Given the description of an element on the screen output the (x, y) to click on. 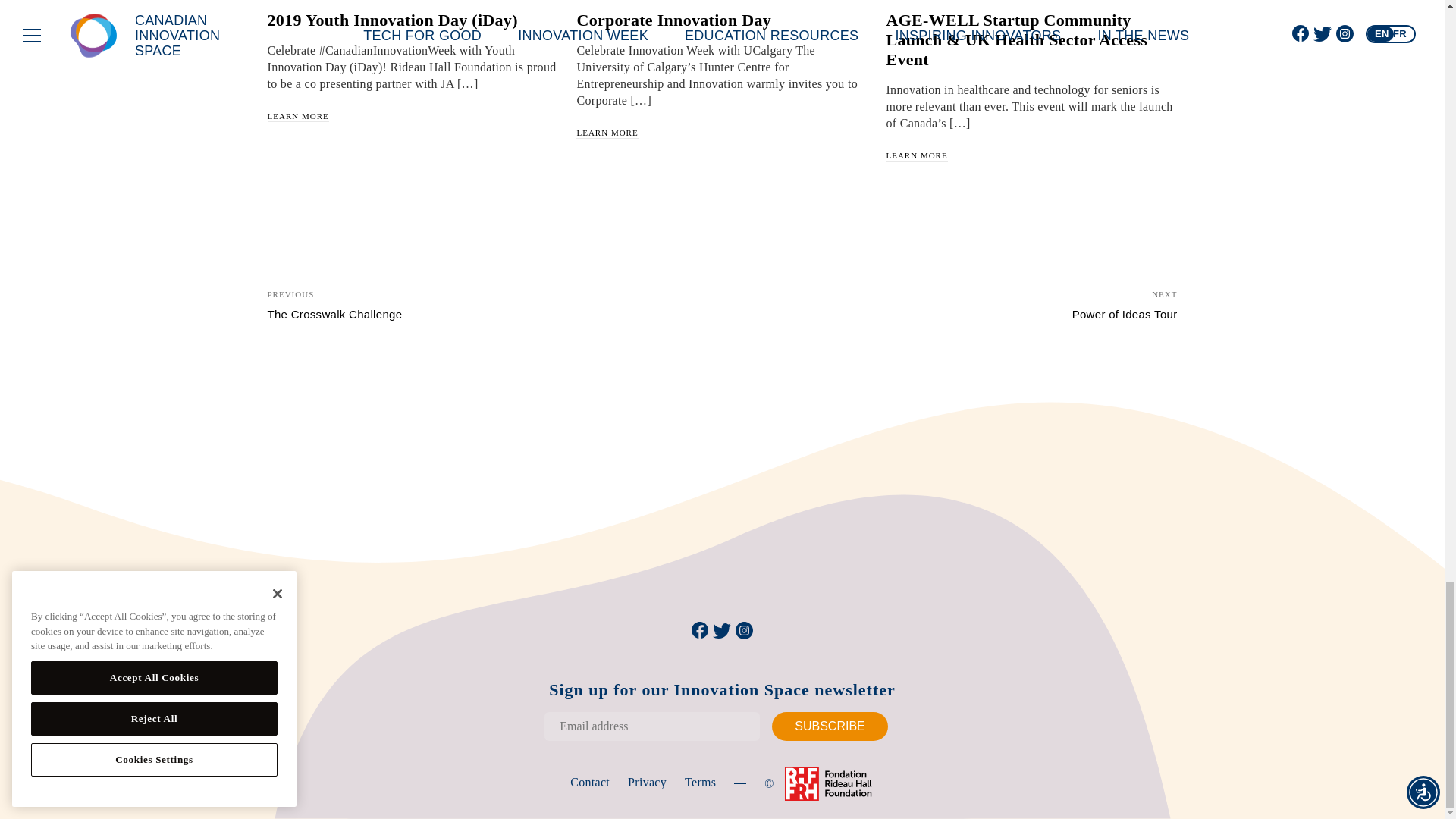
Subscribe (828, 726)
RHF Website (824, 783)
